Given the description of an element on the screen output the (x, y) to click on. 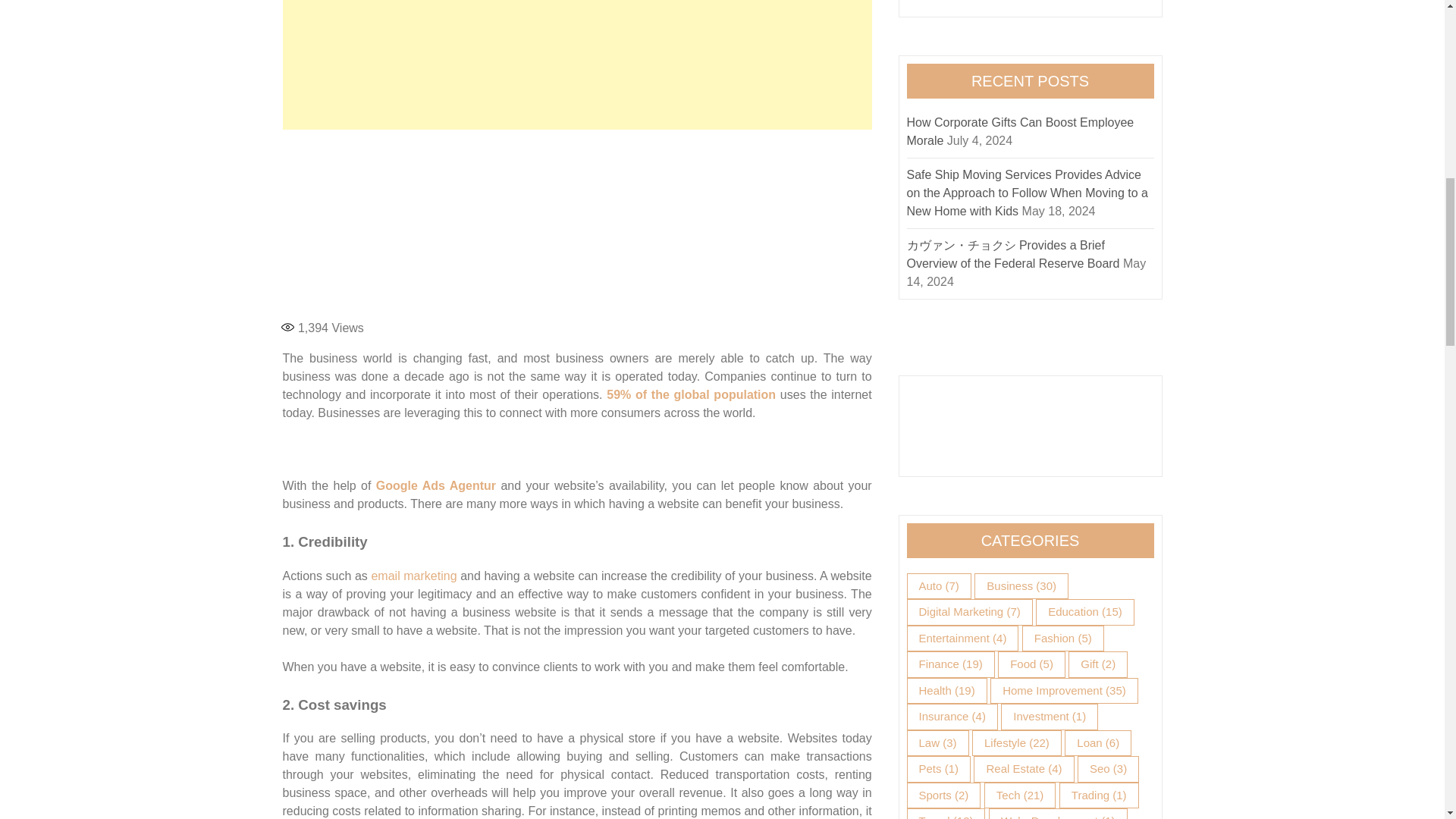
email marketing (414, 575)
Advertisement (577, 221)
Google Ads Agentur (435, 485)
